Given the description of an element on the screen output the (x, y) to click on. 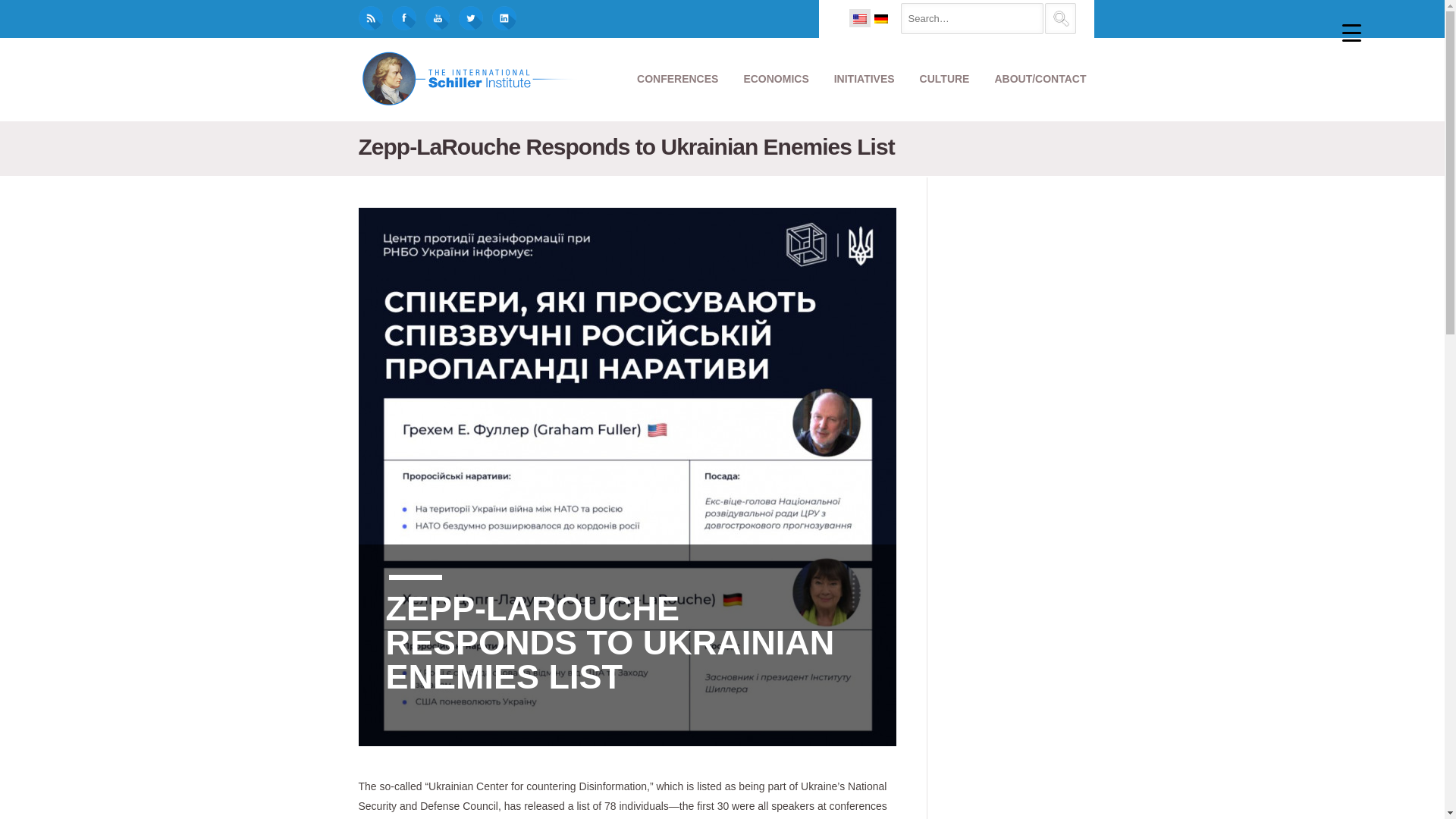
ECONOMICS (775, 78)
Twitter (464, 21)
The Schiller Institute (471, 79)
LinkedIn (498, 21)
Search for: (972, 18)
Facebook (397, 21)
YouTube (431, 21)
CONFERENCES (677, 78)
